Given the description of an element on the screen output the (x, y) to click on. 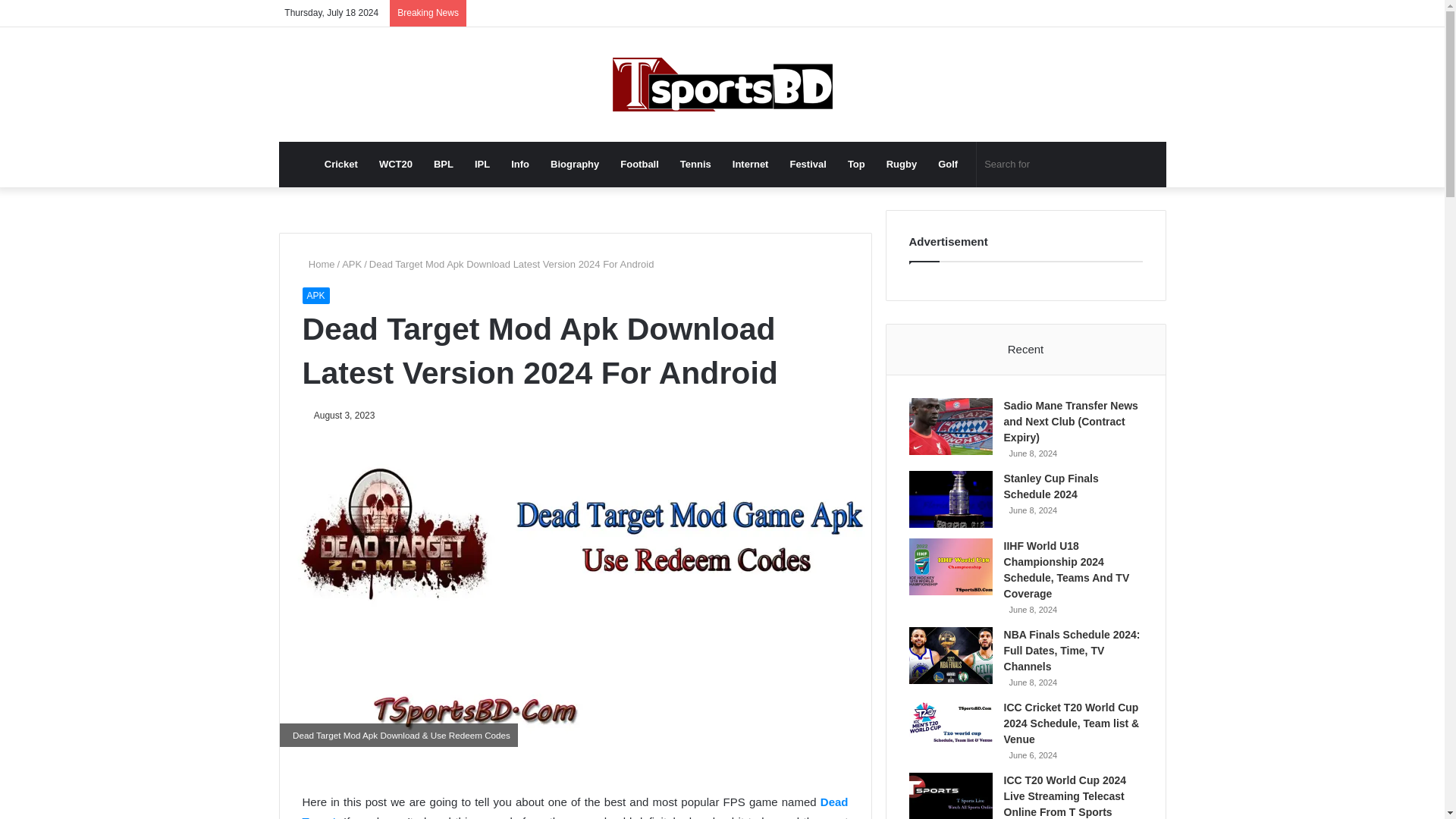
WCT20 (395, 164)
Dead Target (574, 807)
Search for (1115, 164)
Log In (1109, 13)
Search for (1053, 164)
Random Article (1131, 13)
Rugby (901, 164)
T Sports Live (722, 84)
Sidebar (1154, 13)
Internet (750, 164)
Festival (806, 164)
Biography (575, 164)
Top (856, 164)
Football (639, 164)
Golf (947, 164)
